Given the description of an element on the screen output the (x, y) to click on. 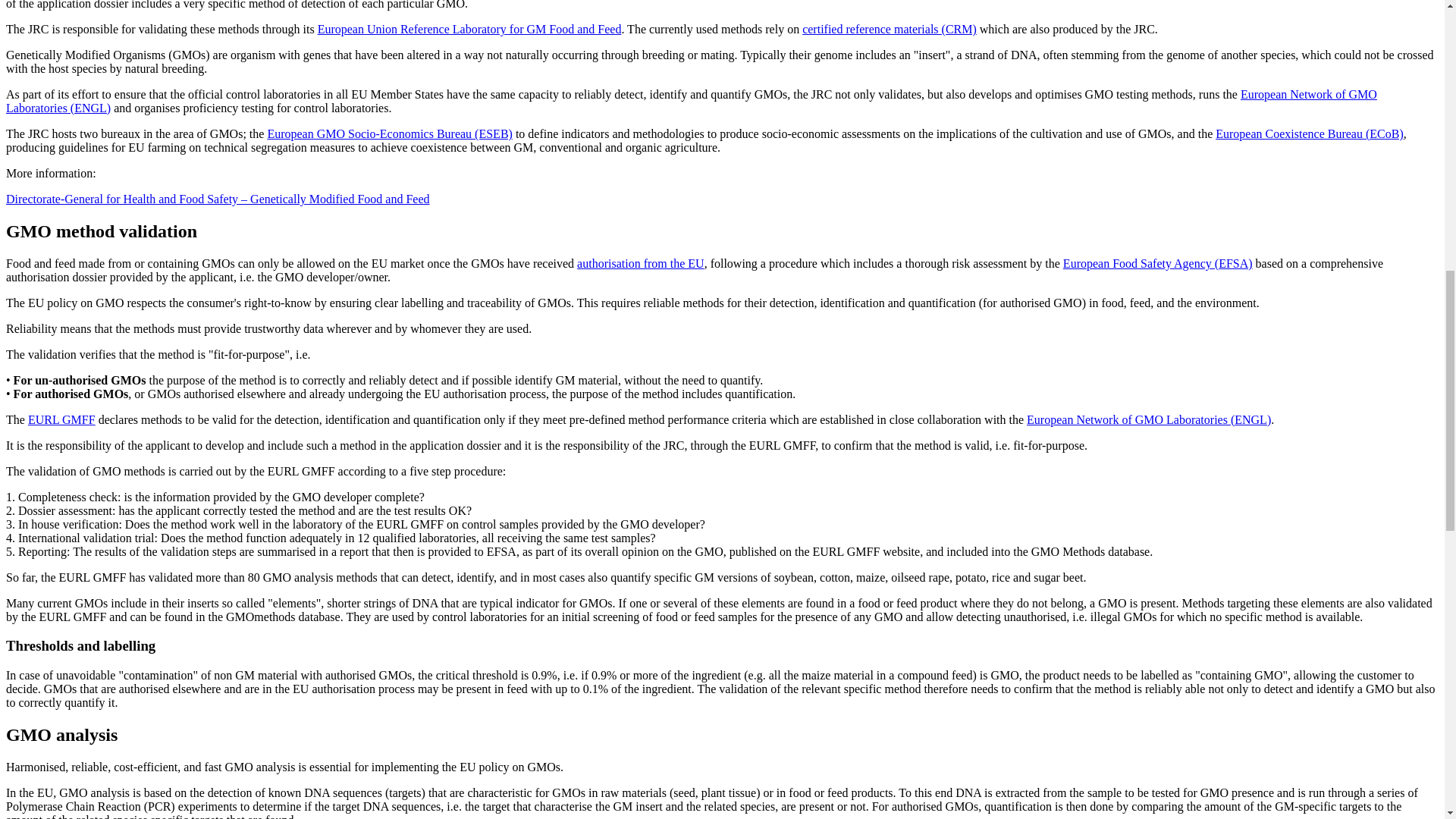
EURL GMFF (61, 419)
European Union Reference Laboratory for GM Food and Feed (469, 29)
authorisation from the EU (640, 263)
